Given the description of an element on the screen output the (x, y) to click on. 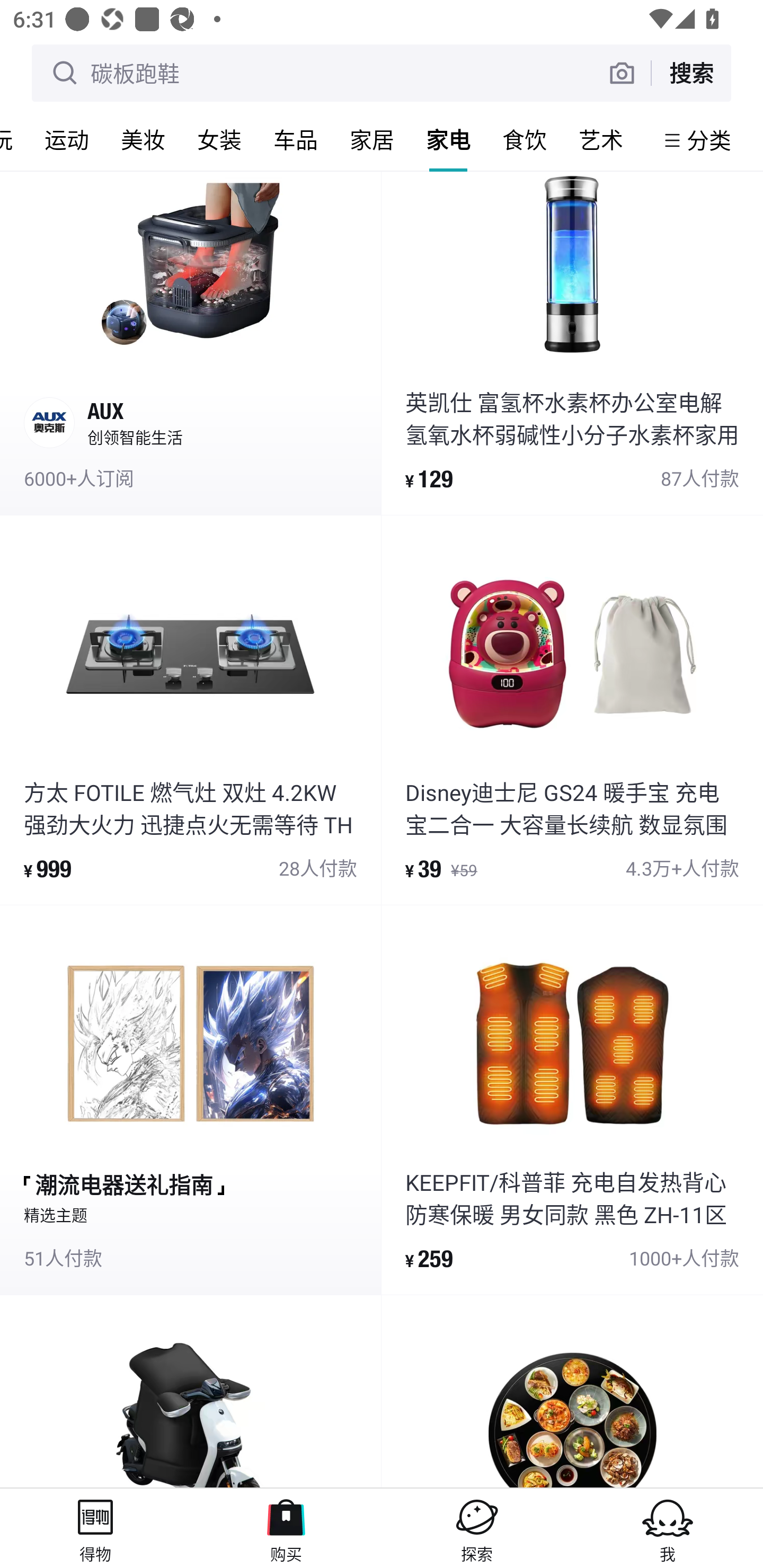
搜索 (690, 72)
运动 (66, 139)
美妆 (143, 139)
女装 (219, 139)
车品 (295, 139)
家居 (372, 139)
家电 (448, 139)
食饮 (524, 139)
艺术 (601, 139)
分类 (708, 139)
AUX 创领智能生活 6000+人订阅 (190, 342)
潮流电器送礼指南 精选主题 51人付款 (190, 1099)
product_item (190, 1391)
product_item (572, 1391)
得物 (95, 1528)
购买 (285, 1528)
探索 (476, 1528)
我 (667, 1528)
